Given the description of an element on the screen output the (x, y) to click on. 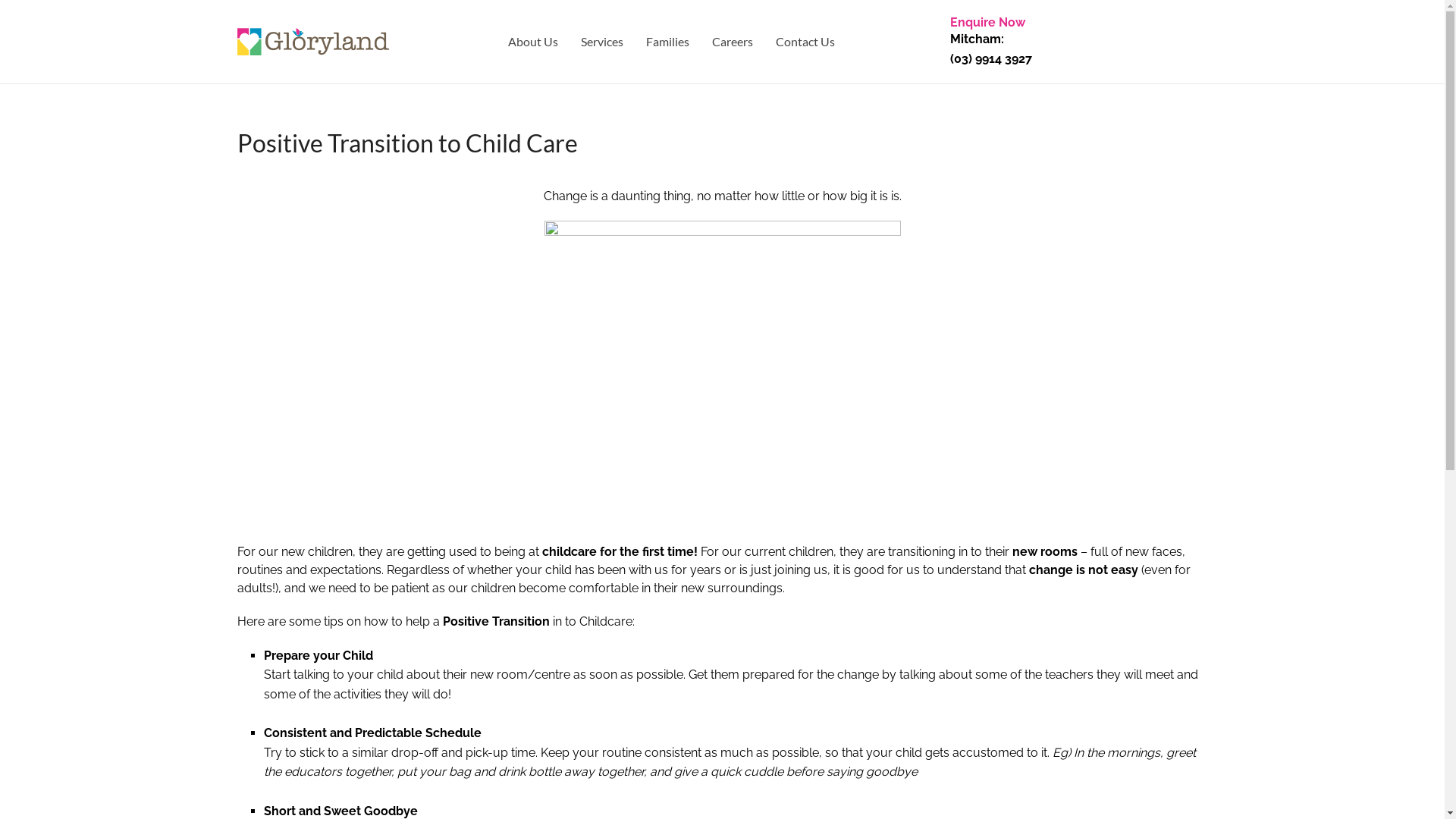
Contact Us Element type: text (805, 41)
Mitcham:
(03) 9914 3927 Element type: text (990, 48)
Careers Element type: text (732, 41)
Families Element type: text (666, 41)
Services Element type: text (600, 41)
About Us Element type: text (531, 41)
